Given the description of an element on the screen output the (x, y) to click on. 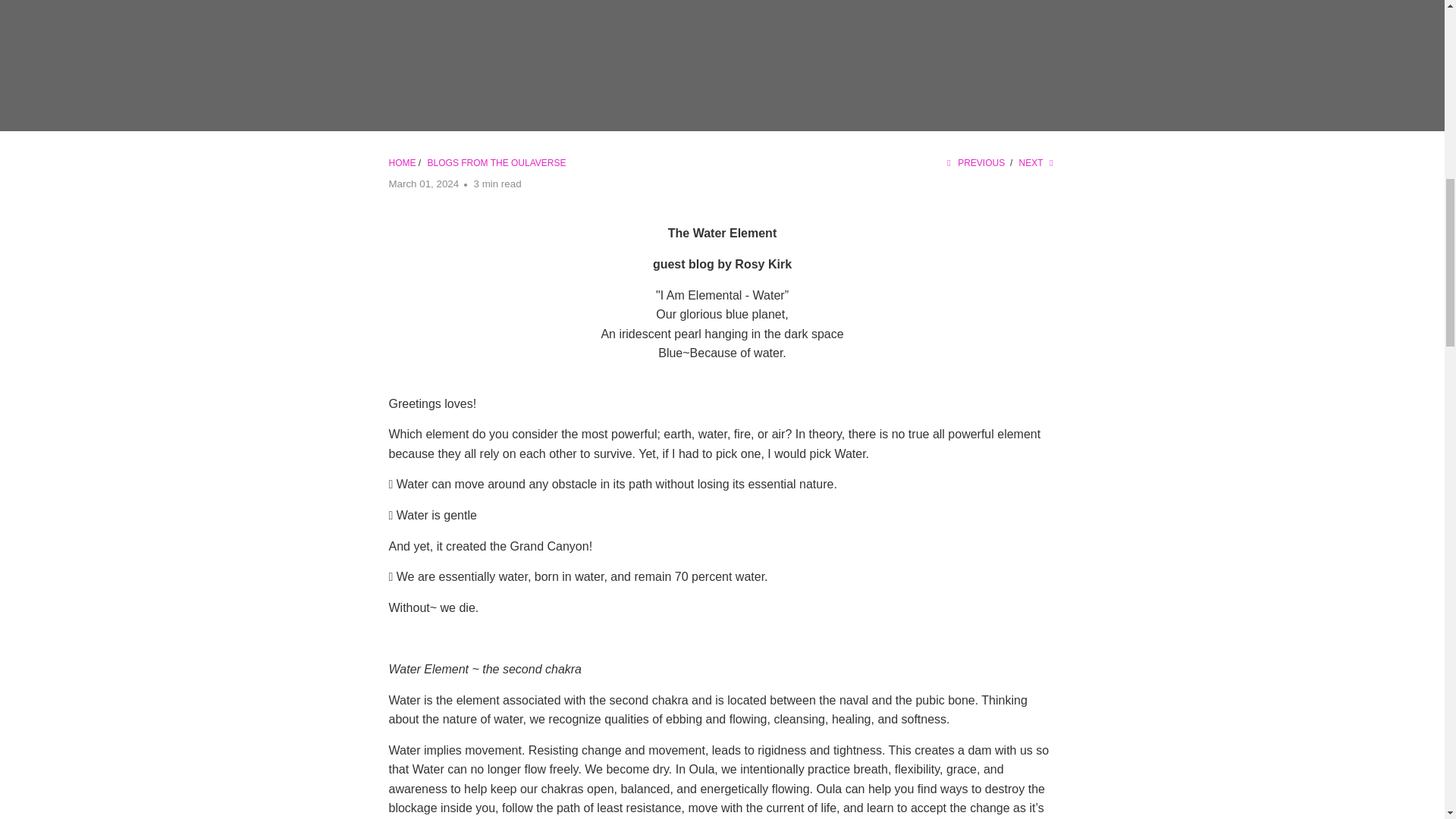
Blogs from the Oulaverse (497, 163)
Oula (401, 163)
